Given the description of an element on the screen output the (x, y) to click on. 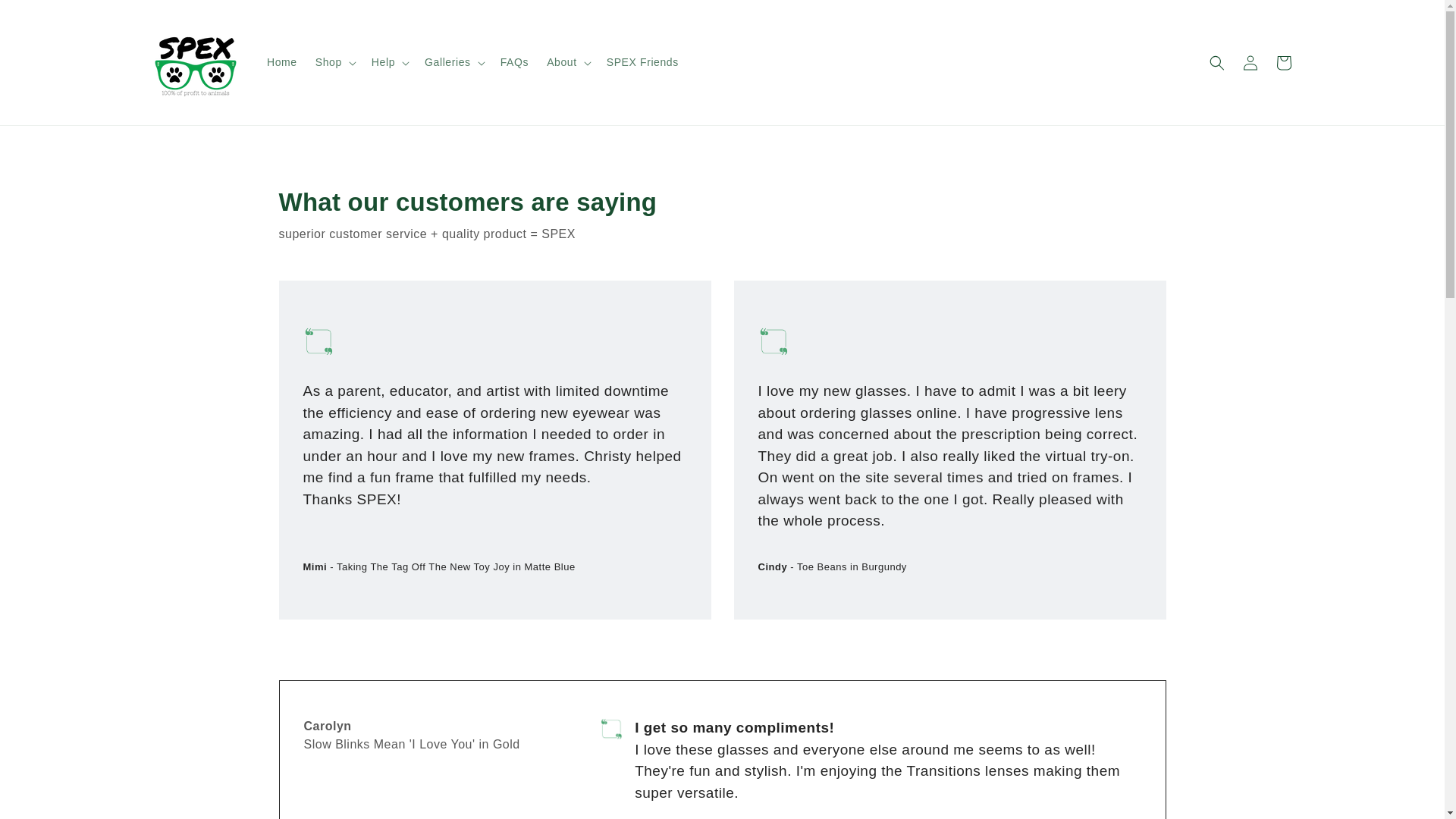
Skip to content (45, 17)
Home (281, 61)
